Given the description of an element on the screen output the (x, y) to click on. 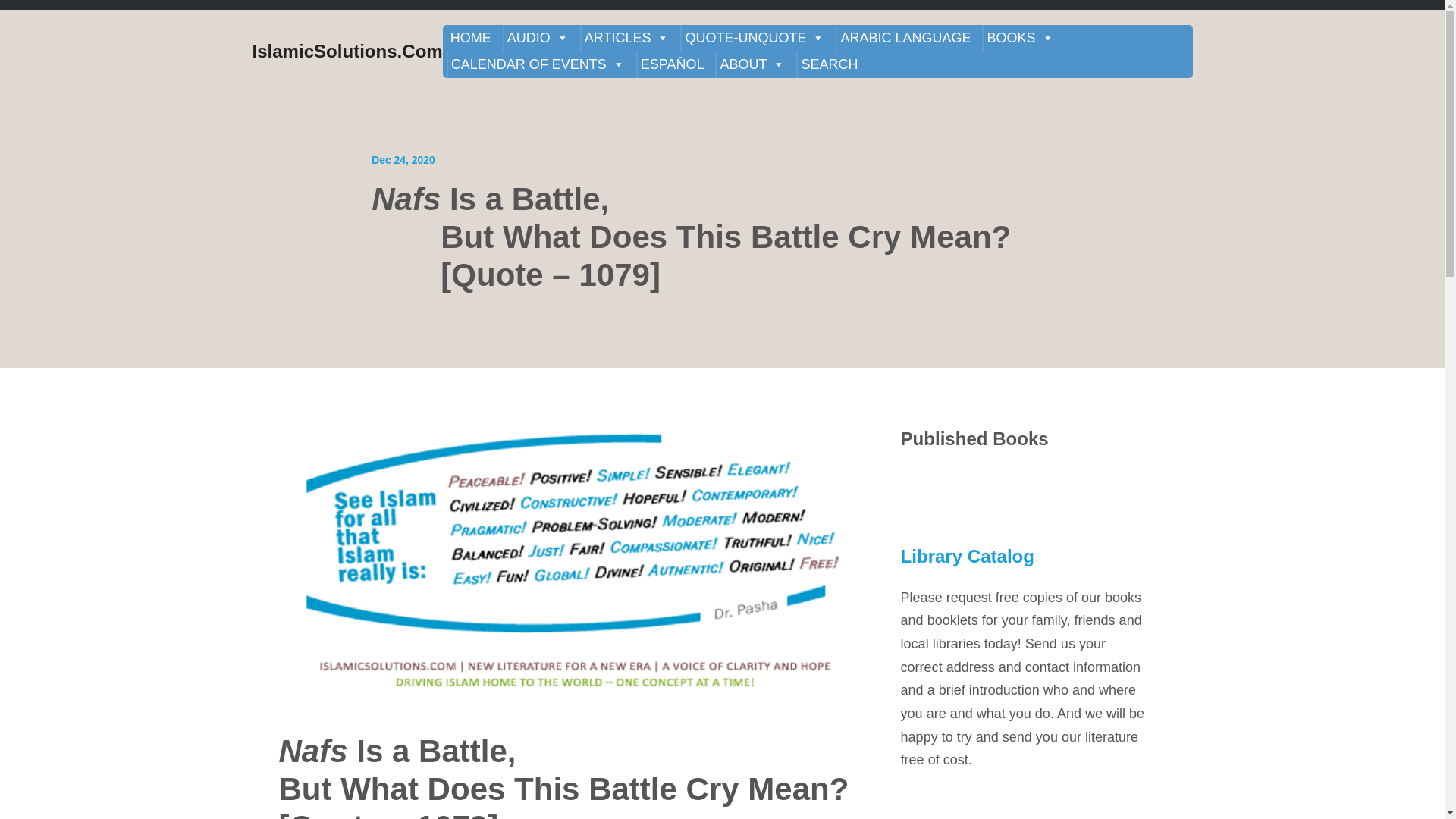
HOME (470, 38)
ARTICLES (626, 38)
IslamicSolutions.Com (346, 51)
IslamicSolutions.Com (346, 51)
QUOTE-UNQUOTE (754, 38)
AUDIO (537, 38)
